Given the description of an element on the screen output the (x, y) to click on. 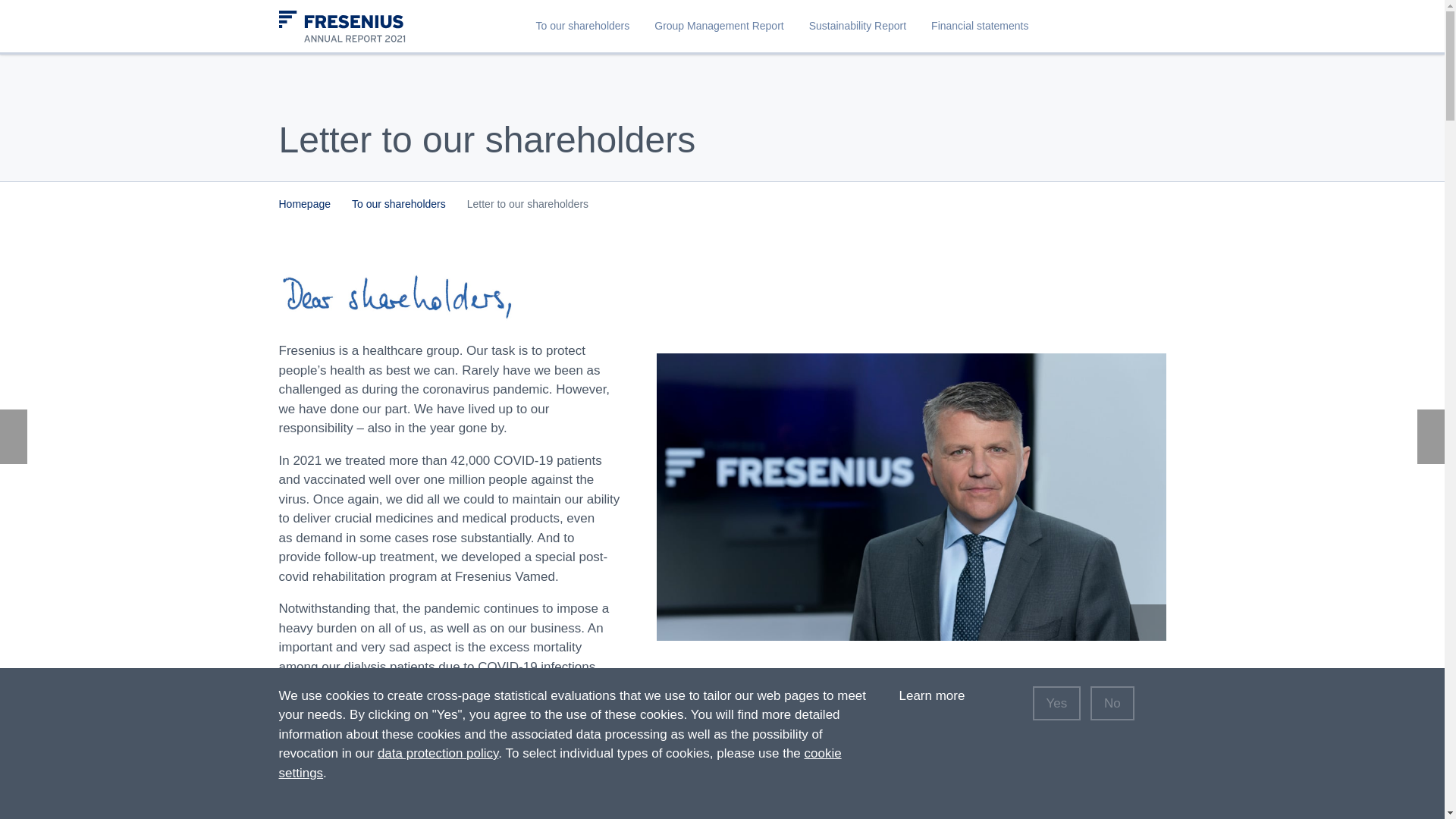
Learn more (941, 695)
Group Management Report (718, 26)
To our shareholders (582, 26)
Startseite (357, 31)
